Given the description of an element on the screen output the (x, y) to click on. 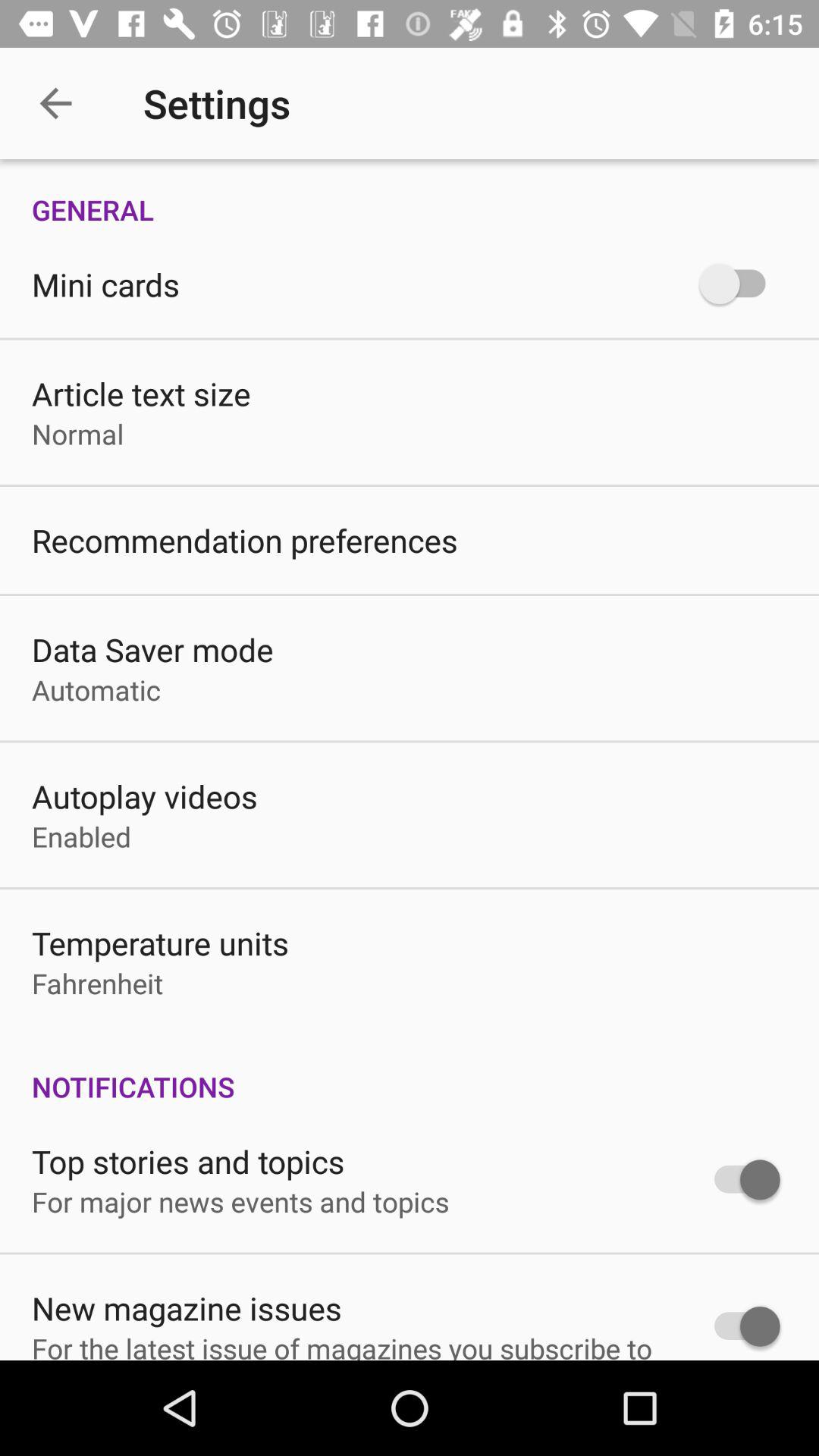
launch the icon above the for the latest (186, 1307)
